Given the description of an element on the screen output the (x, y) to click on. 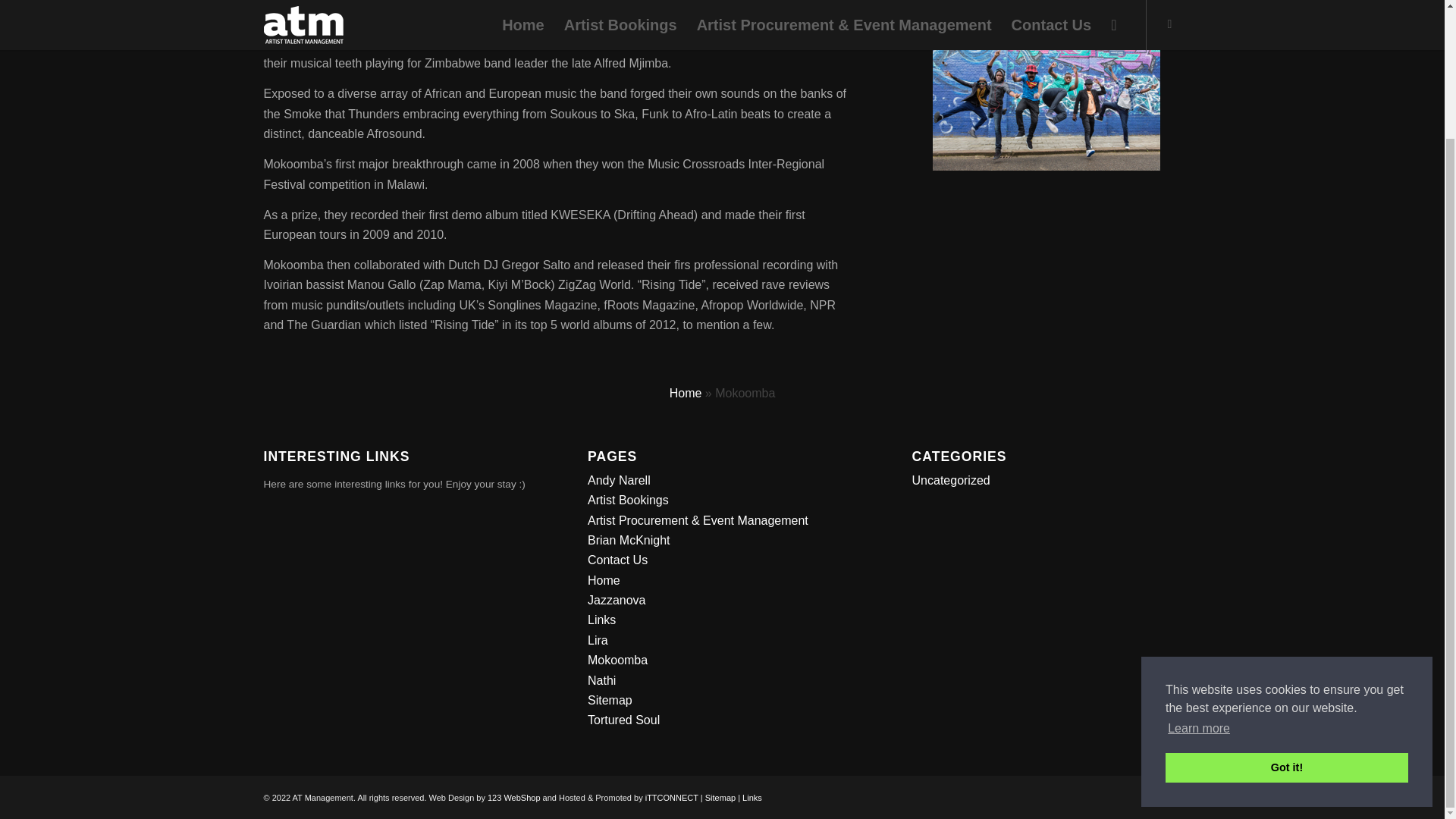
123 WebShop (513, 797)
Tortured Soul (623, 719)
Jazzanova (617, 599)
Contact Us (617, 559)
Home (685, 392)
Sitemap (719, 797)
Sitemap (609, 699)
Andy Narell (619, 480)
Got it! (1286, 611)
Brian McKnight (628, 540)
iTTCONNECT (671, 797)
Links (601, 619)
Links (751, 797)
mokoomba2 (1046, 94)
Learn more (1198, 572)
